Given the description of an element on the screen output the (x, y) to click on. 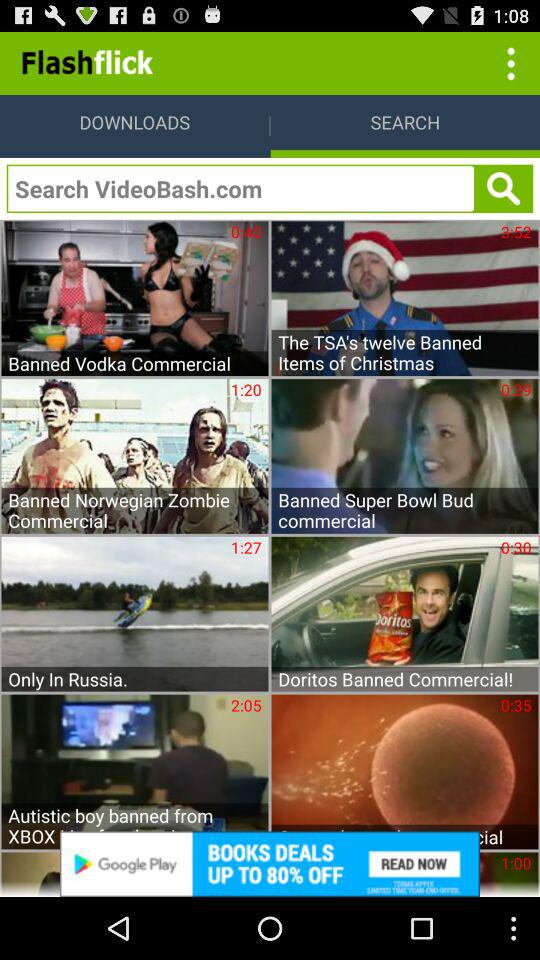
search videobash (240, 188)
